Given the description of an element on the screen output the (x, y) to click on. 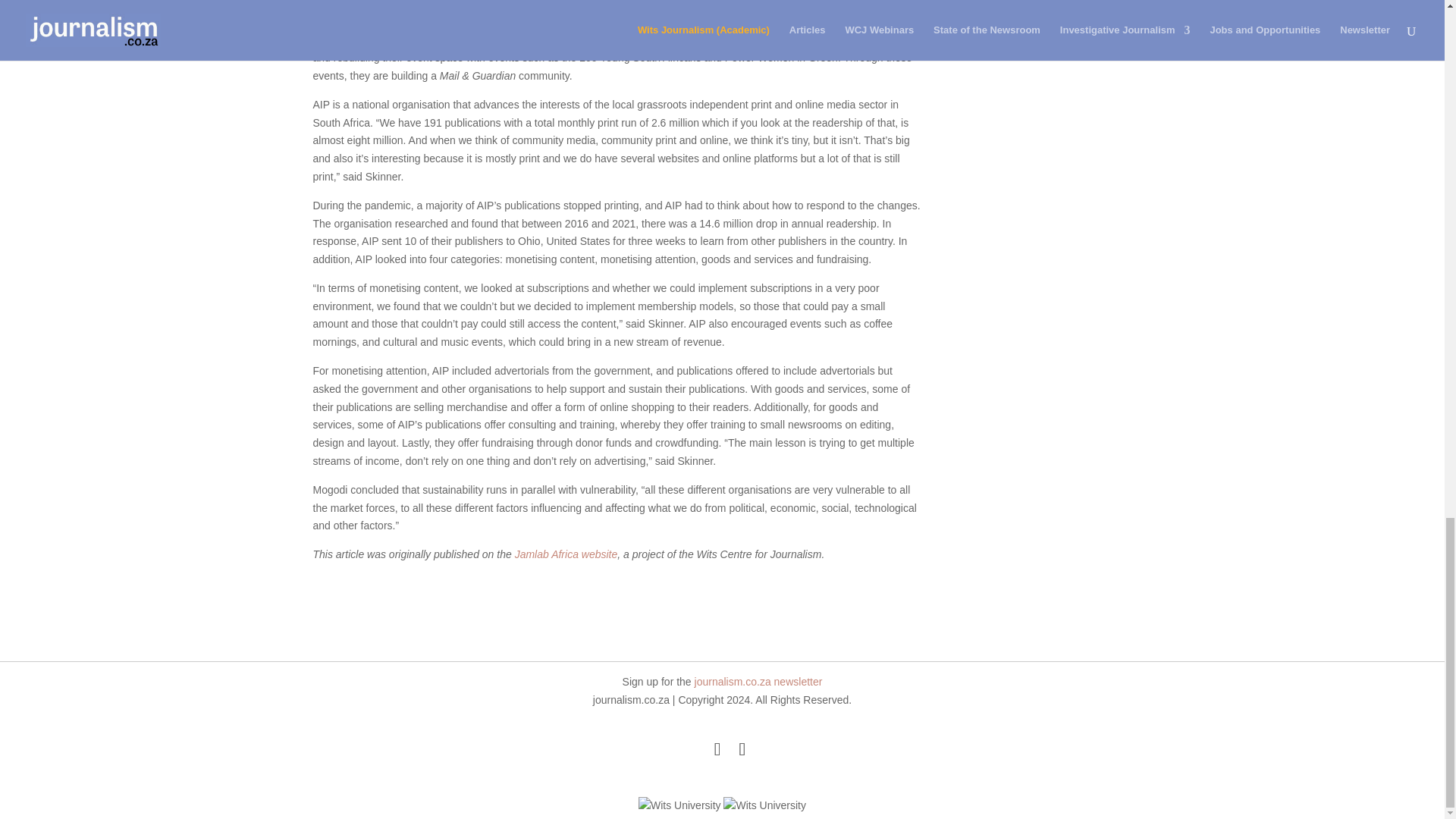
Jamlab Africa website (566, 553)
journalism.co.za newsletter (758, 681)
